Given the description of an element on the screen output the (x, y) to click on. 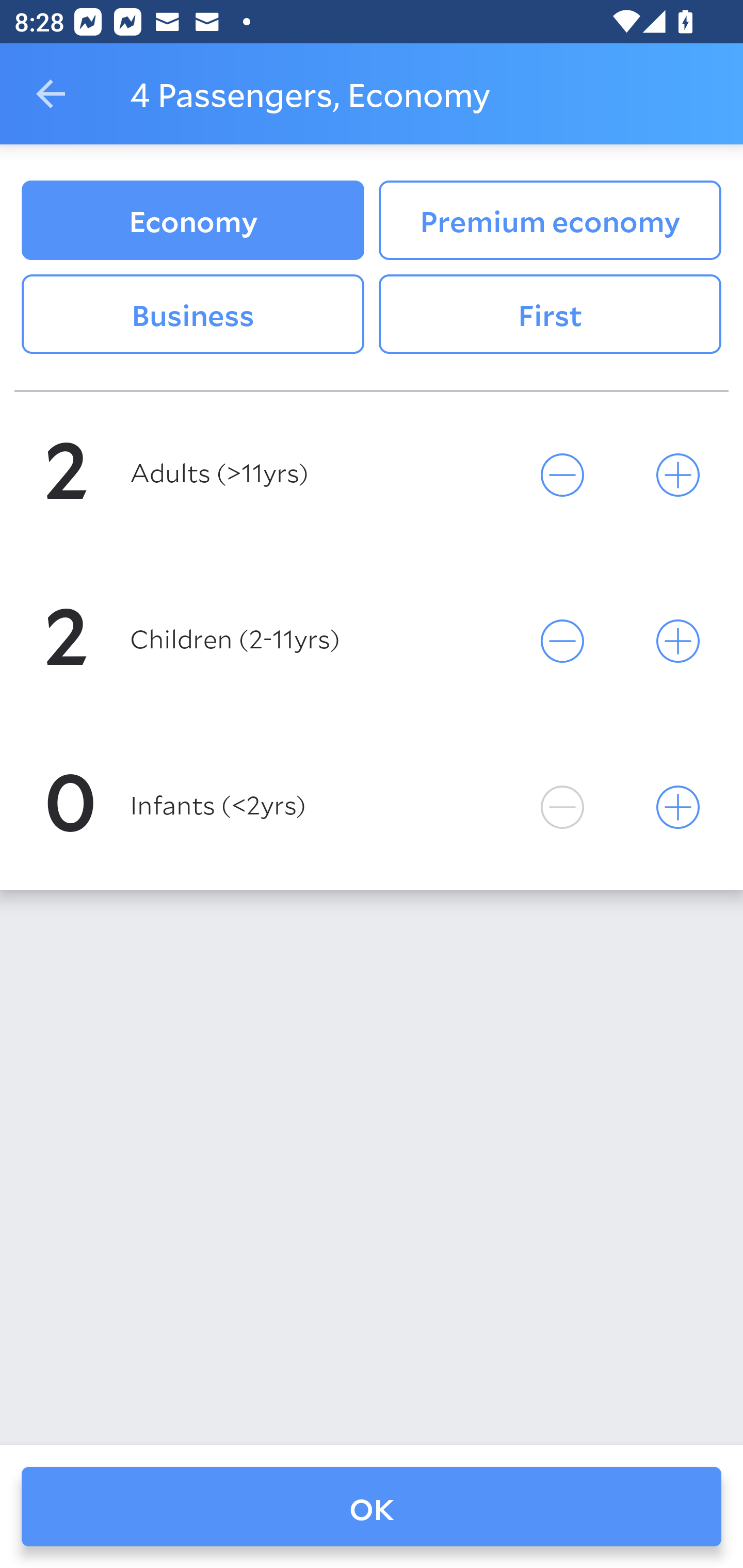
Navigate up (50, 93)
Economy (192, 220)
Premium economy (549, 220)
Business (192, 314)
First (549, 314)
OK (371, 1506)
